Given the description of an element on the screen output the (x, y) to click on. 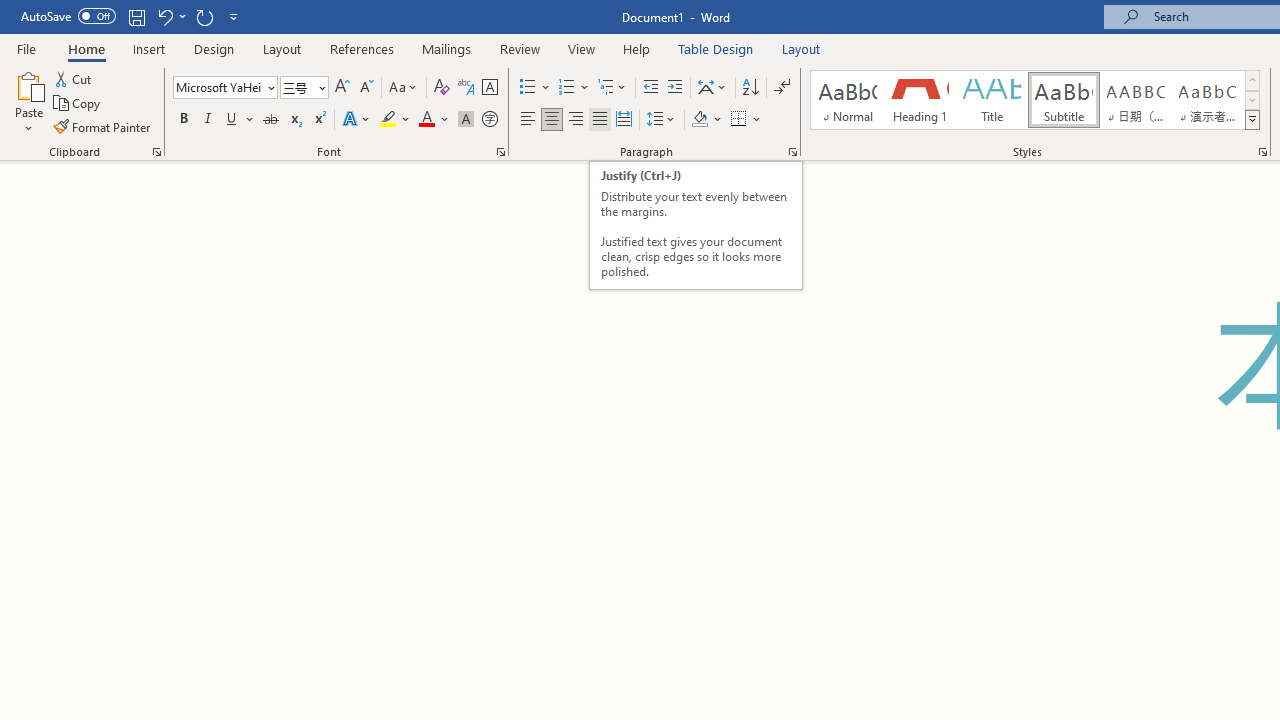
Styles... (1262, 151)
Sort... (750, 87)
Font Color (434, 119)
Increase Indent (675, 87)
Line and Paragraph Spacing (661, 119)
Undo Superscript (170, 15)
Text Highlight Color Yellow (388, 119)
Row up (1252, 79)
Character Border (489, 87)
Justify (599, 119)
Align Left (527, 119)
Enclose Characters... (489, 119)
Center (552, 119)
Align Right (575, 119)
Heading 1 (920, 100)
